Given the description of an element on the screen output the (x, y) to click on. 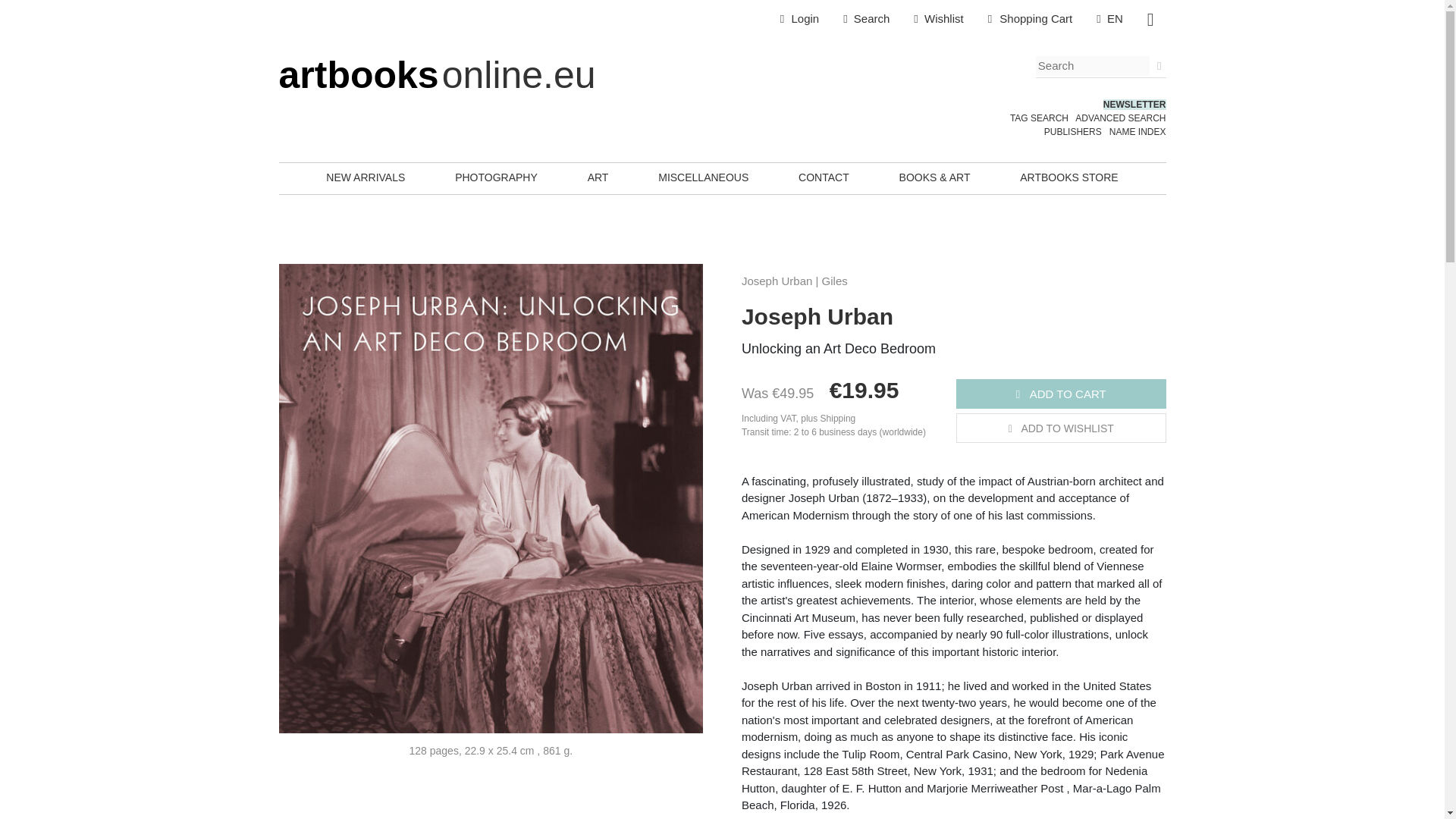
NEWSLETTER (1134, 104)
Wishlist (938, 19)
PUBLISHERS (1072, 131)
Shopping Cart (1029, 19)
ADVANCED SEARCH (1120, 118)
EN (1109, 19)
Search (866, 19)
NEW ARRIVALS (365, 177)
Login (799, 19)
NAME INDEX (1137, 131)
